Given the description of an element on the screen output the (x, y) to click on. 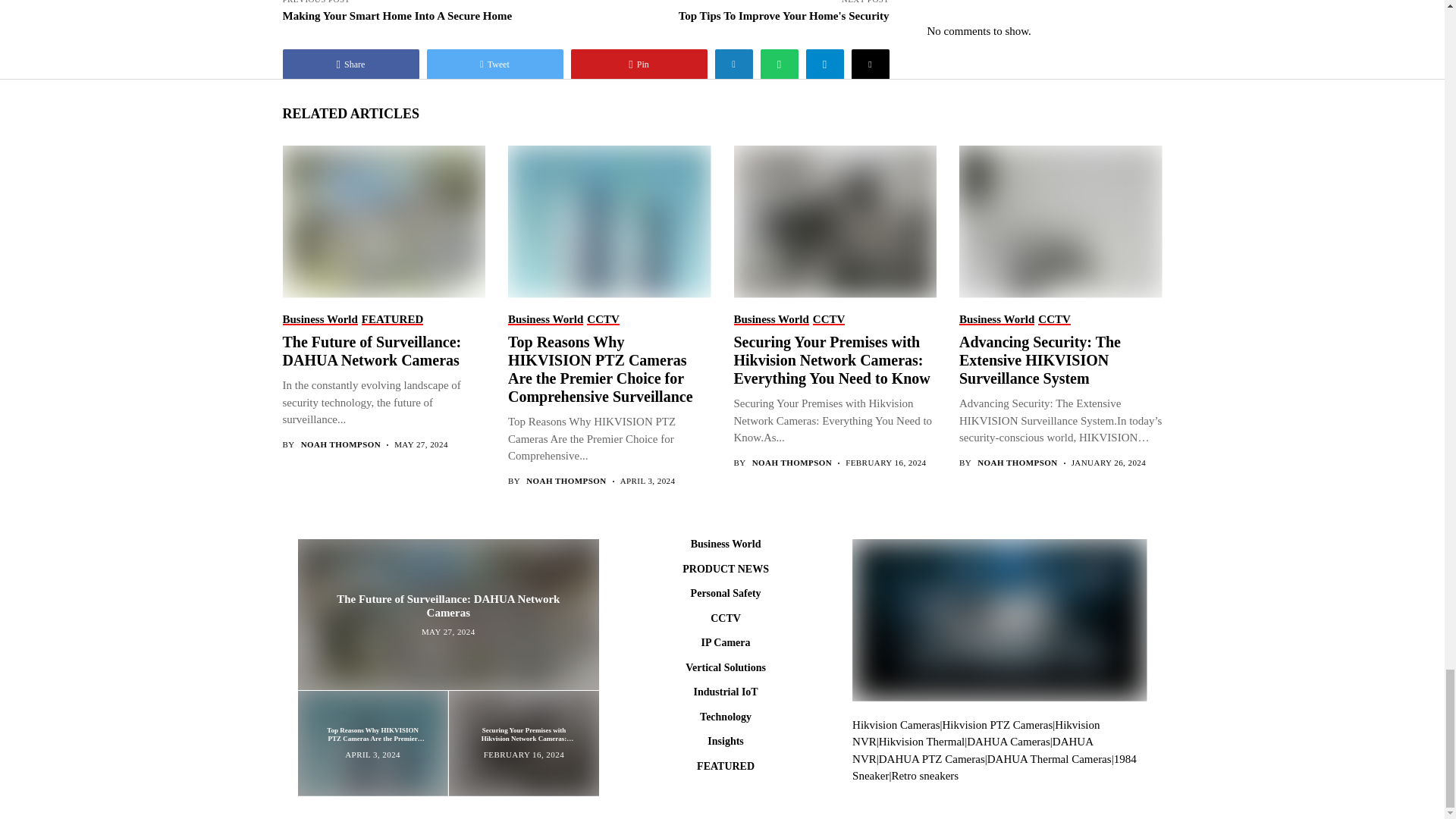
The Future of Surveillance: DAHUA Network Cameras (447, 613)
Posts by Noah Thompson (791, 462)
Posts by Noah Thompson (565, 480)
Posts by Noah Thompson (1016, 462)
Posts by Noah Thompson (340, 444)
The Future of Surveillance: DAHUA Network Cameras (382, 220)
